Given the description of an element on the screen output the (x, y) to click on. 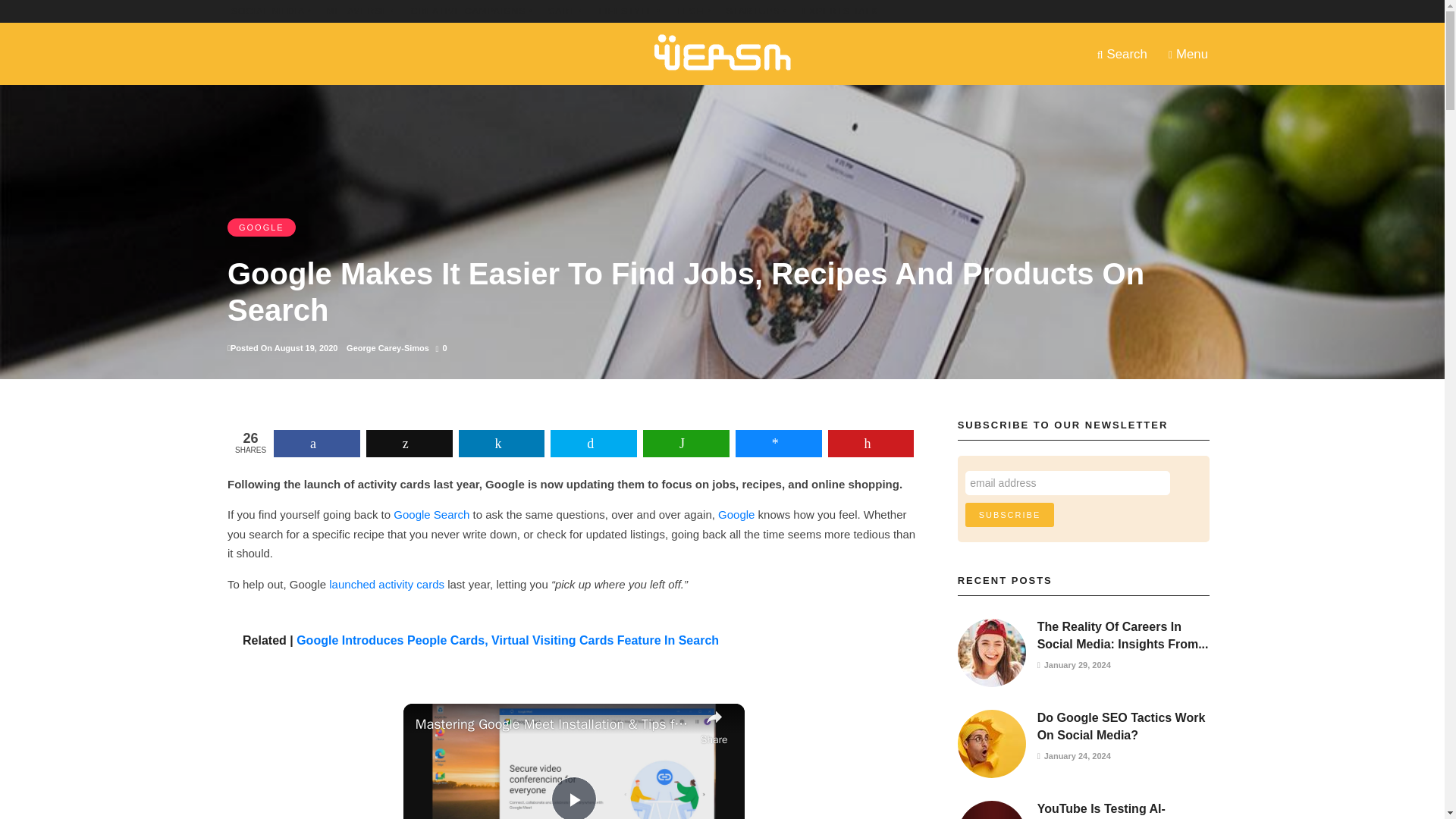
Share on - (871, 443)
top-bar (756, 10)
top-bar (629, 10)
George Carey-Simos (387, 347)
Share on - (686, 443)
GOOGLE (261, 227)
Share on - (501, 443)
Search (1121, 53)
Share on - (593, 443)
EXPERTS TALK (839, 10)
Menu (1187, 53)
top-bar (692, 10)
Share on - (409, 443)
Play Video (573, 797)
Share on - (778, 443)
